Given the description of an element on the screen output the (x, y) to click on. 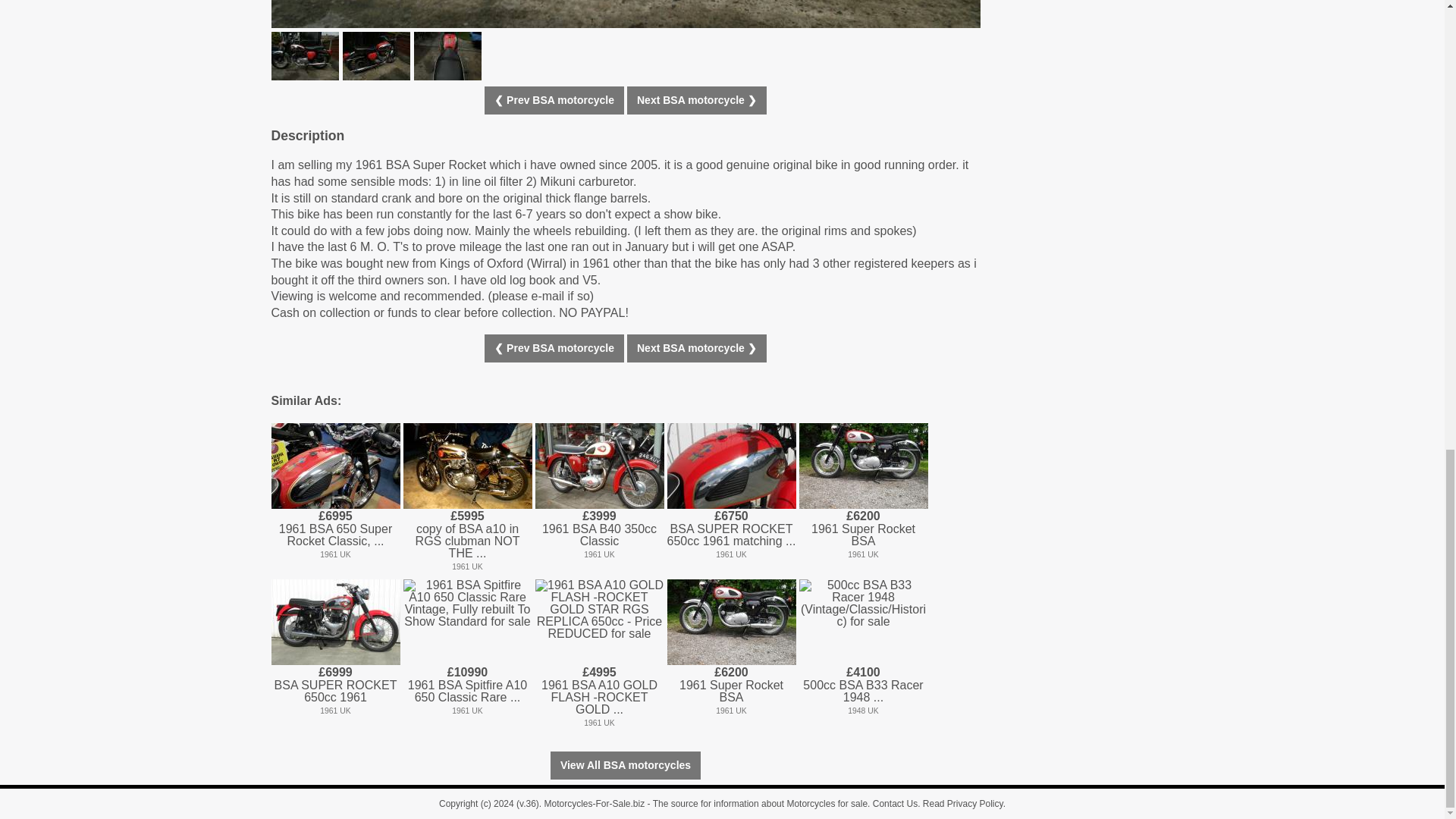
BSA SUPER ROCKET 650cc 1961 matching numbers bike for sale (731, 465)
Next BSA motorcycle (697, 348)
View All BSA motorcycles (625, 765)
Previous BSA motorcycle (554, 100)
BSA SUPER ROCKET 650cc 1961 for sale (335, 622)
1961 BSA Super Rocket (624, 13)
Next BSA motorcycle (697, 100)
copy of BSA a10 in RGS clubman NOT THE REAL THING for sale (467, 465)
Previous BSA motorcycle (554, 348)
